Given the description of an element on the screen output the (x, y) to click on. 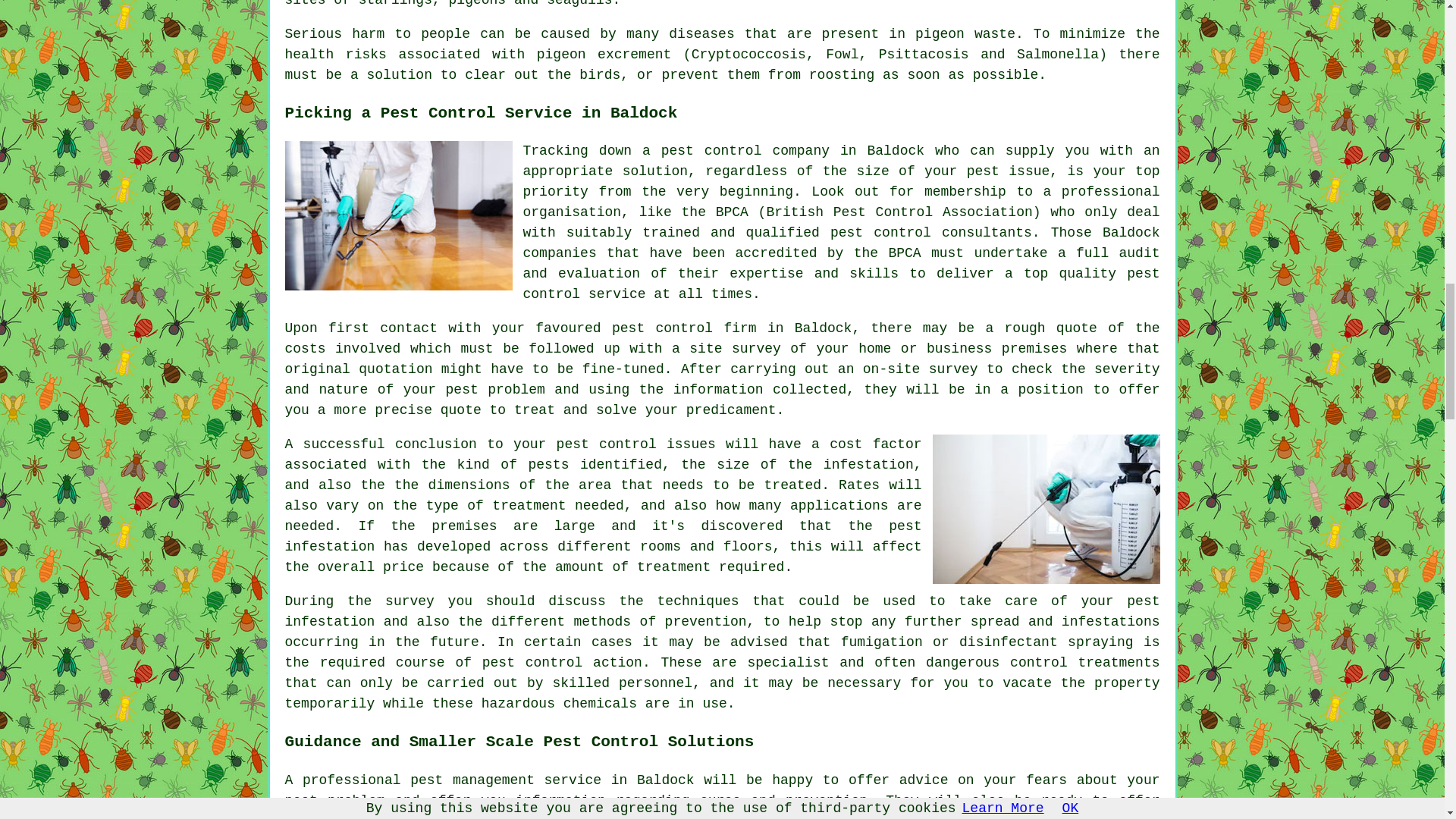
Pest Management Service Baldock UK (1046, 508)
Pest Control Specialists Baldock (398, 215)
